Given the description of an element on the screen output the (x, y) to click on. 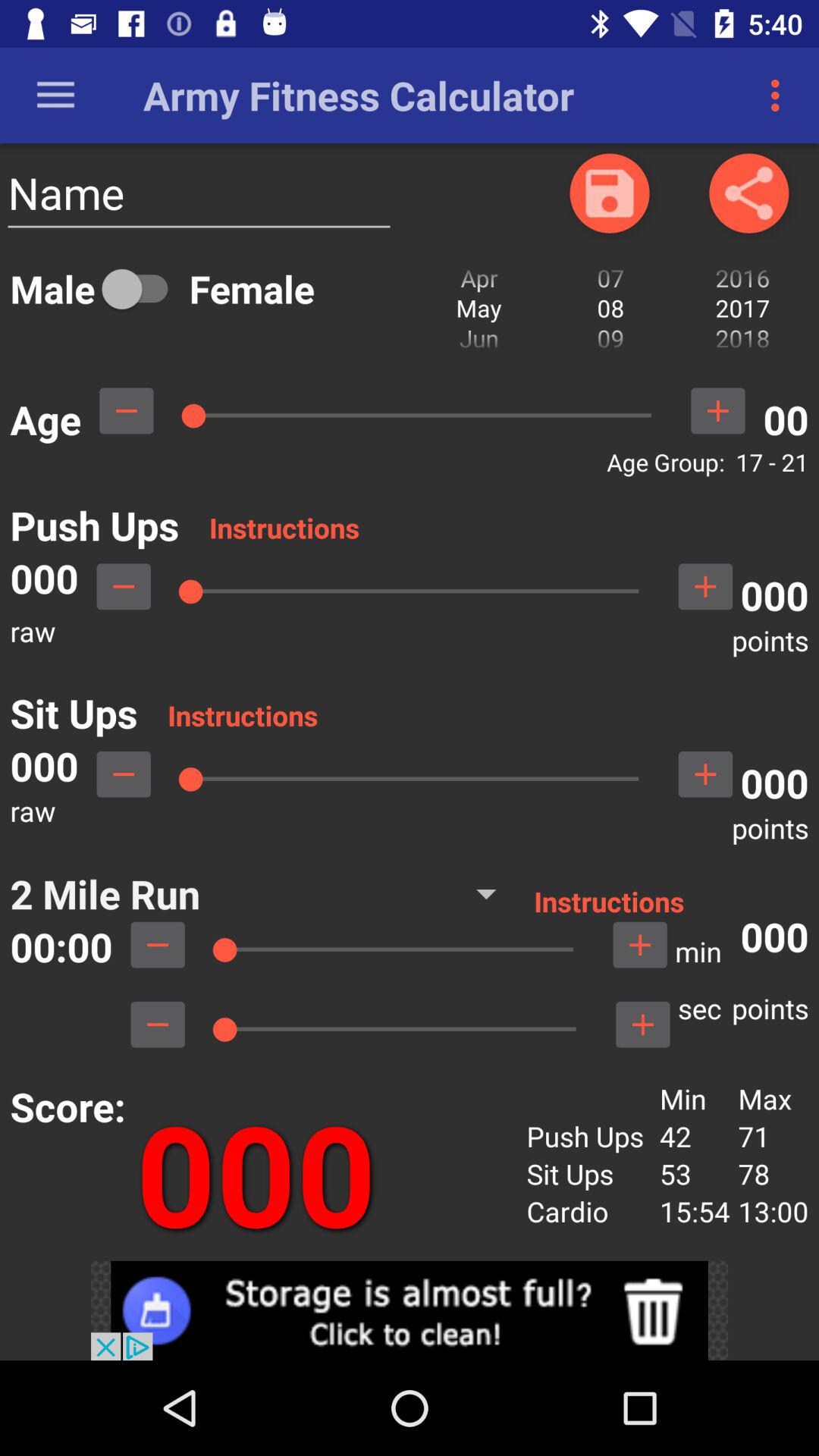
add age (718, 410)
